Given the description of an element on the screen output the (x, y) to click on. 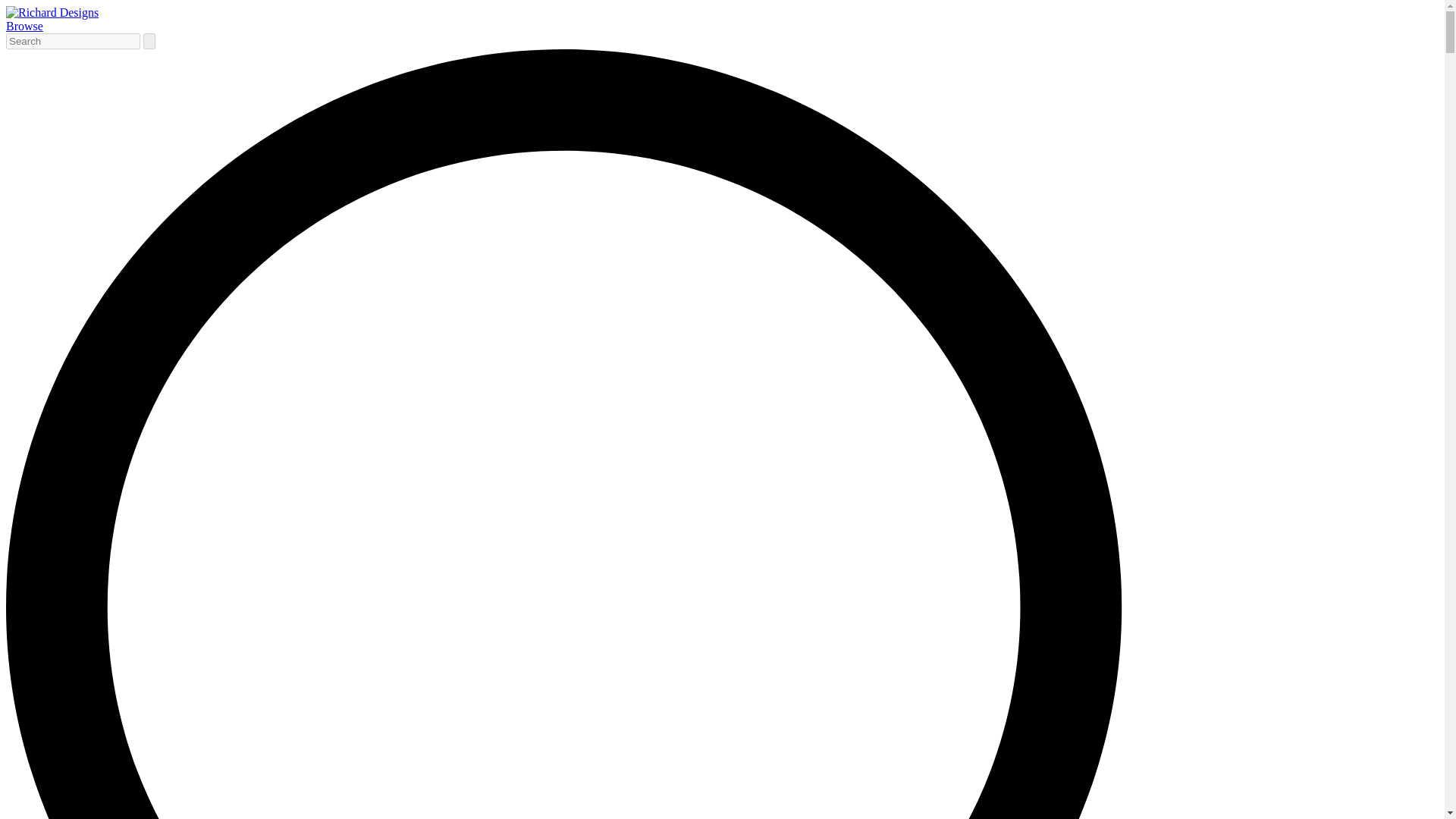
Browse (24, 25)
